Given the description of an element on the screen output the (x, y) to click on. 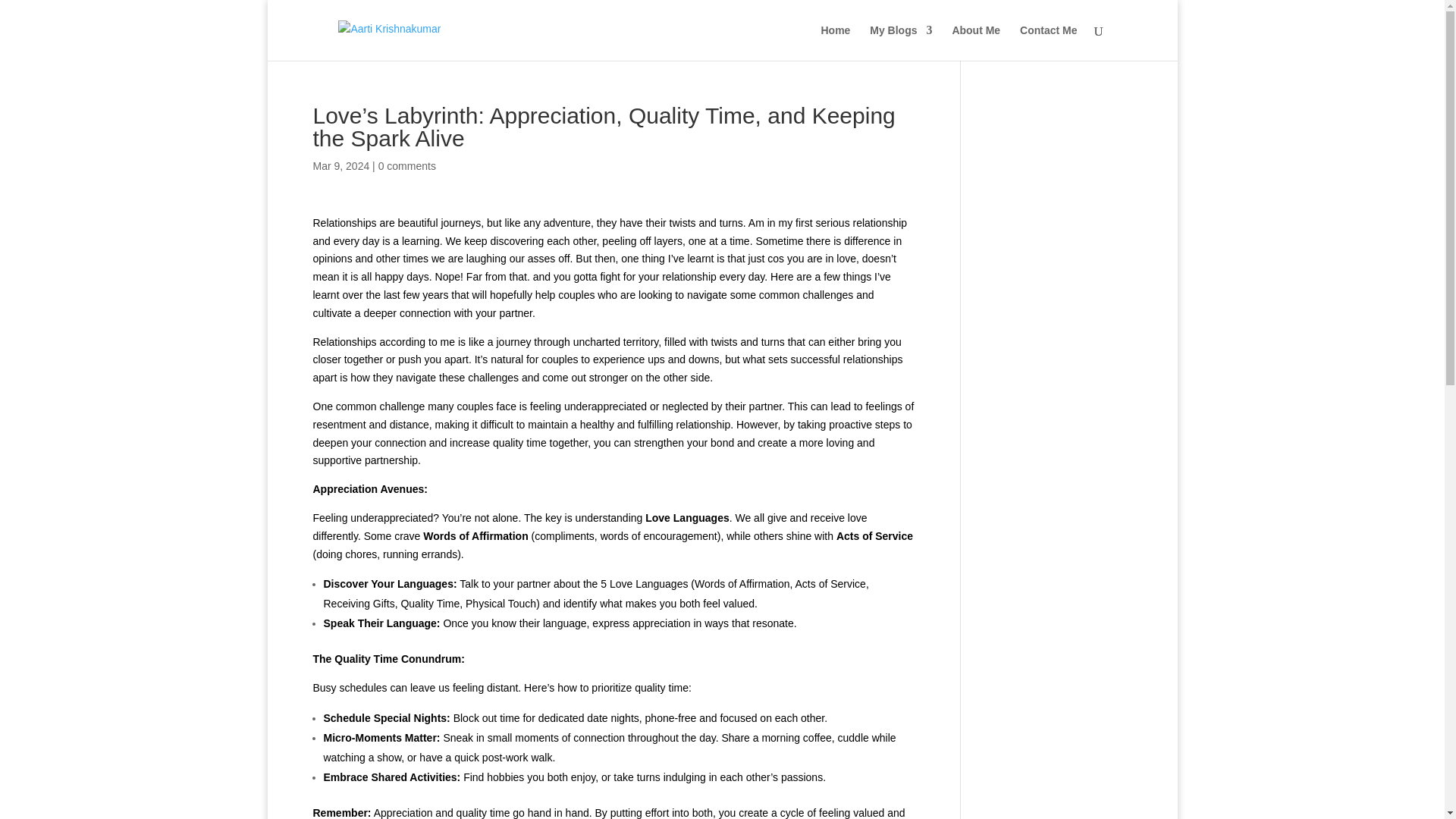
0 comments (406, 165)
My Blogs (900, 42)
Contact Me (1048, 42)
About Me (976, 42)
